Given the description of an element on the screen output the (x, y) to click on. 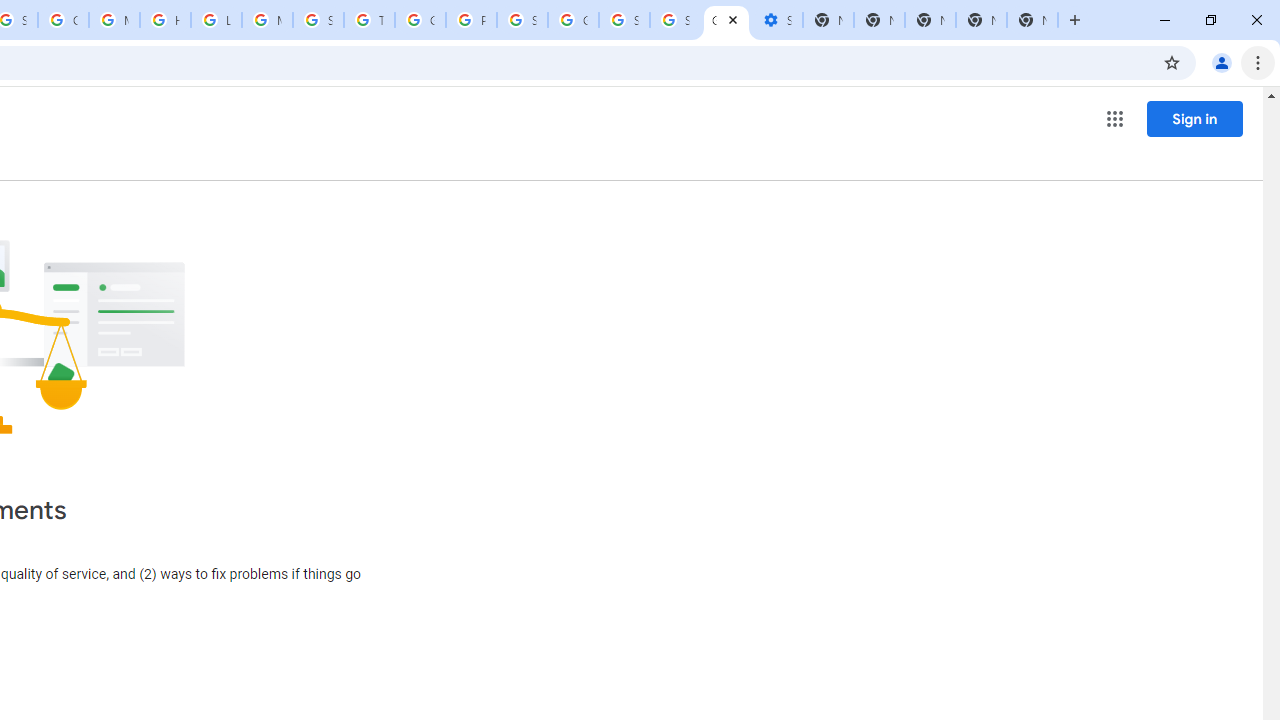
Sign in - Google Accounts (521, 20)
Google Ads - Sign in (420, 20)
Google Cybersecurity Innovations - Google Safety Center (573, 20)
Trusted Information and Content - Google Safety Center (369, 20)
Sign in - Google Accounts (675, 20)
Search our Doodle Library Collection - Google Doodles (318, 20)
